Given the description of an element on the screen output the (x, y) to click on. 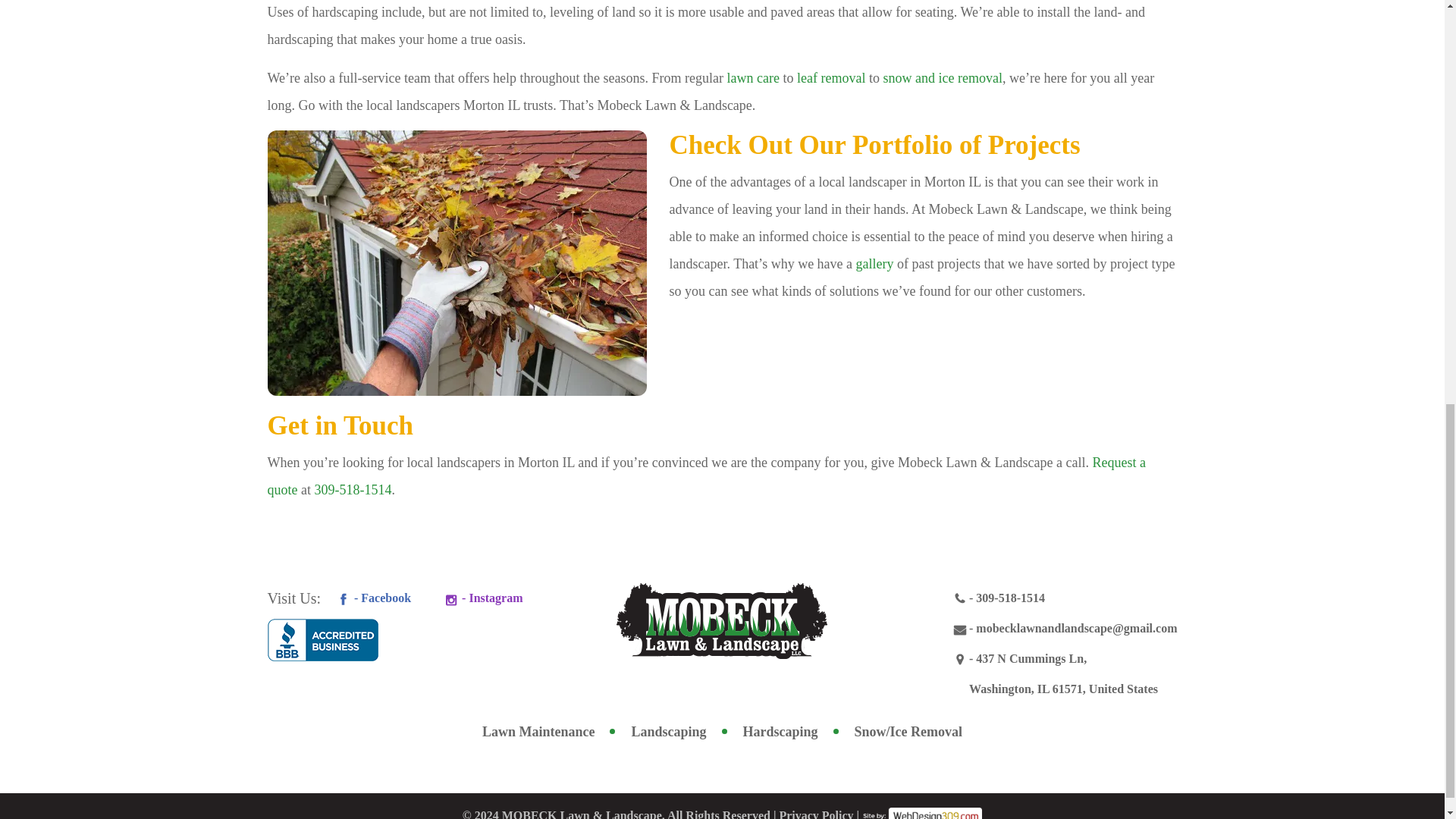
lawn care (752, 77)
